Given the description of an element on the screen output the (x, y) to click on. 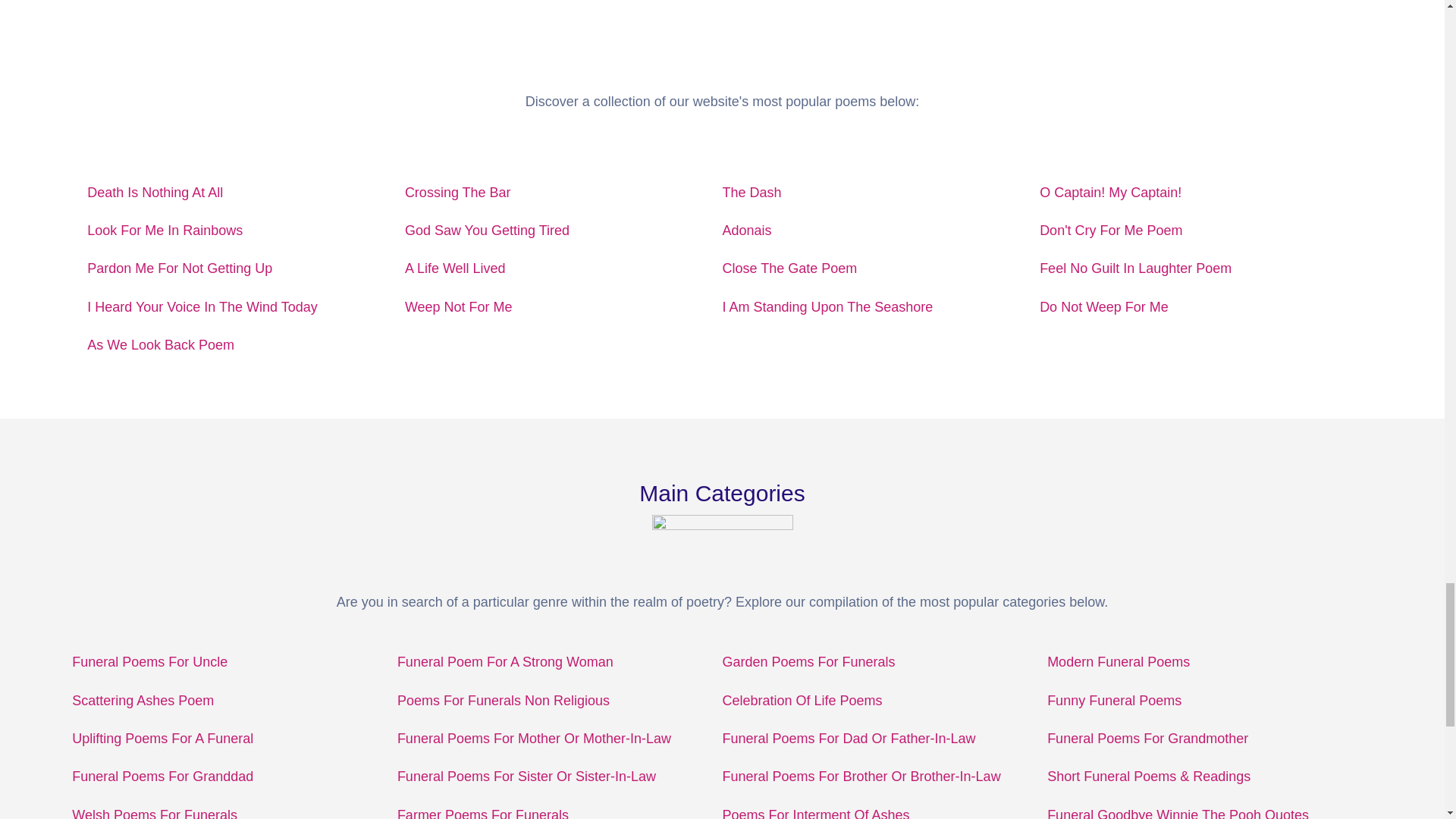
Modern Funeral Poems (1117, 661)
Adonais (746, 230)
Funeral Poem For A Strong Woman (504, 661)
Weep Not For Me (458, 306)
Funeral Poems For Uncle (149, 661)
O Captain! My Captain! (1109, 192)
Do Not Weep For Me (1104, 306)
Feel No Guilt In Laughter Poem (1135, 268)
I Am Standing Upon The Seashore (827, 306)
Don't Cry For Me Poem (1110, 230)
